Given the description of an element on the screen output the (x, y) to click on. 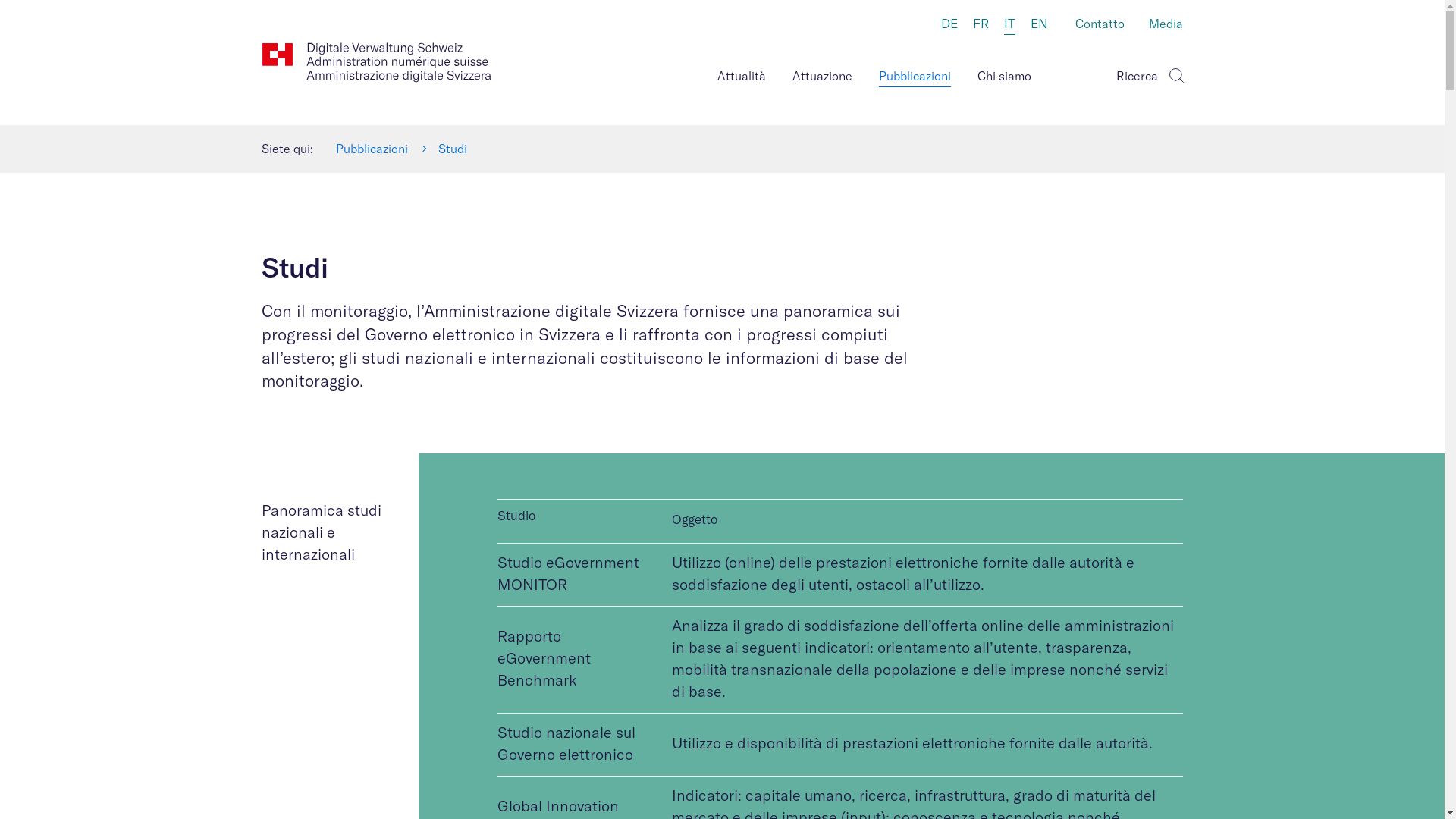
Contatto Element type: text (1098, 24)
DE Element type: text (948, 24)
Website Logo Element type: text (376, 62)
FR Element type: text (980, 24)
Pubblicazioni Element type: text (371, 148)
Media Element type: text (1165, 24)
EN Element type: text (1038, 24)
Cerca Element type: text (1174, 72)
IT Element type: text (1009, 24)
